Given the description of an element on the screen output the (x, y) to click on. 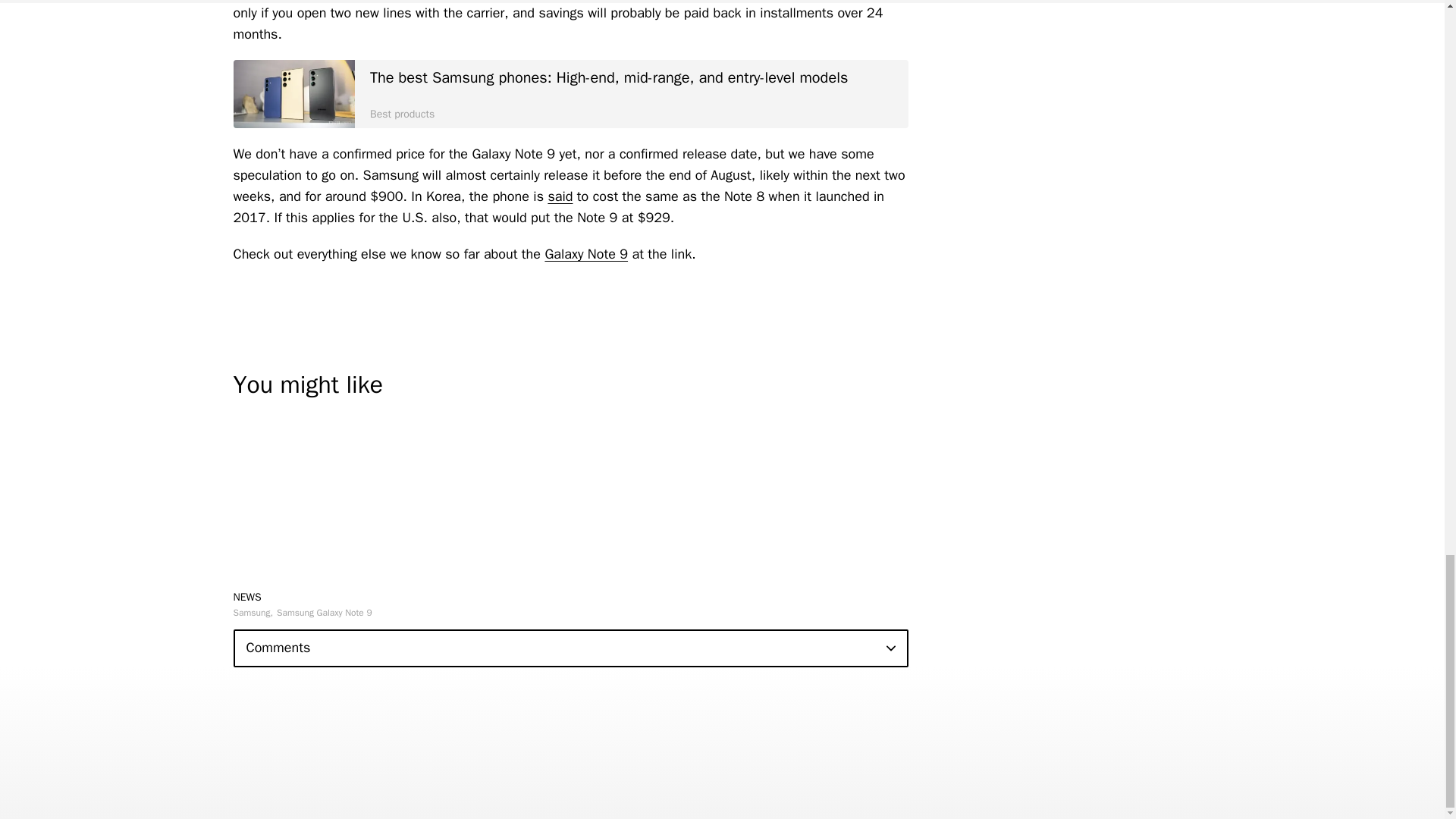
Samsung (252, 612)
said (559, 196)
Comments (570, 648)
Galaxy Note 9 (585, 253)
NEWS (247, 596)
Samsung Galaxy S24 Family 6 (293, 93)
Samsung Galaxy Note 9 (324, 612)
